Given the description of an element on the screen output the (x, y) to click on. 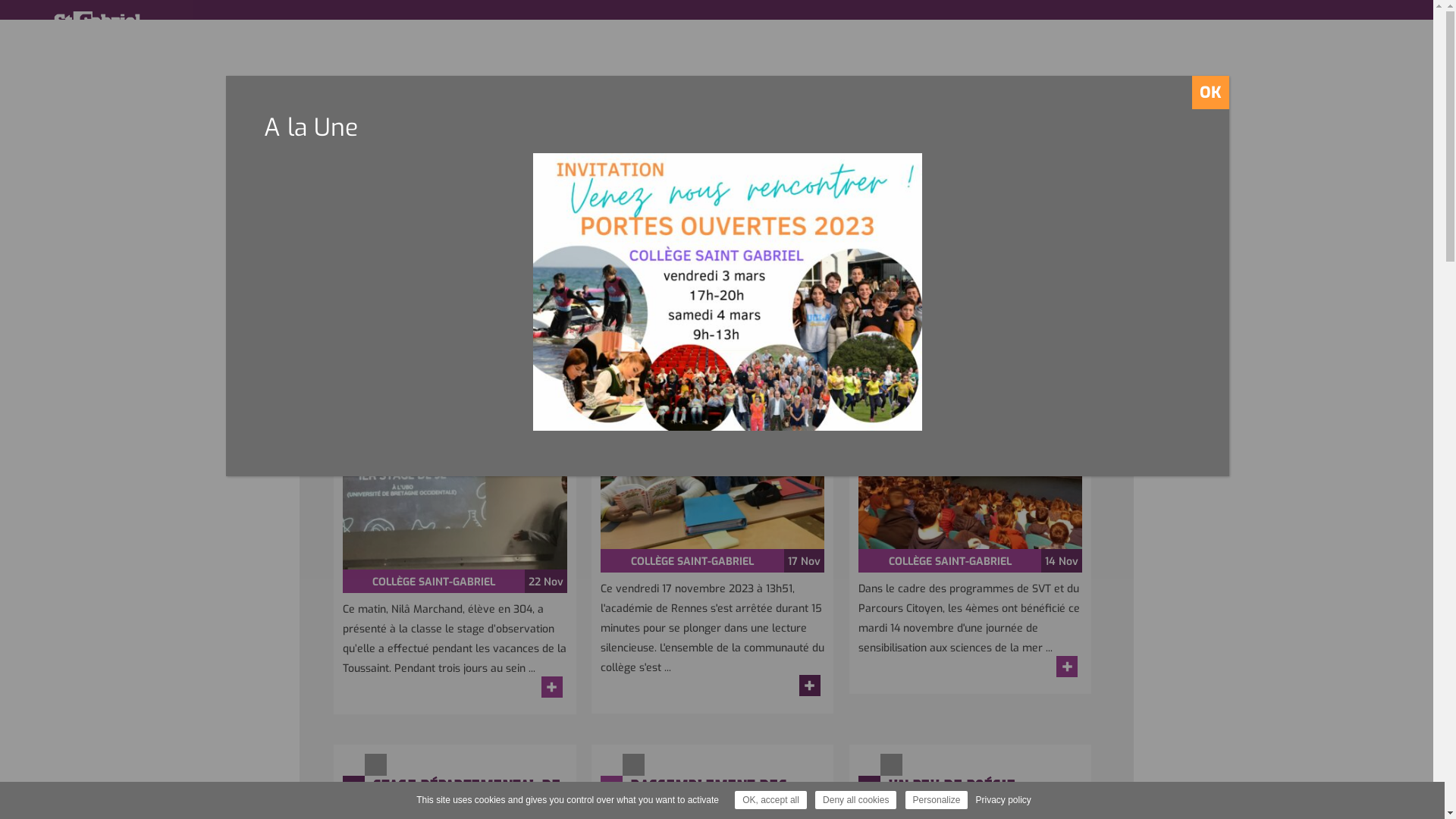
Privacy policy Element type: text (1002, 799)
Ensemble, chacun son livre! Element type: hover (712, 465)
OK, accept all Element type: text (770, 799)
Retour au portail de l'ensemble scolaire Element type: hover (77, 24)
INFOS PRATIQUES Element type: text (681, 185)
Personalize Element type: text (936, 799)
+ Element type: text (809, 685)
+ Element type: text (1066, 666)
+ Element type: text (551, 686)
OK Element type: text (1210, 92)
Deny all cookies Element type: text (855, 799)
Ensemble, chacun son livre! Element type: text (717, 339)
